Given the description of an element on the screen output the (x, y) to click on. 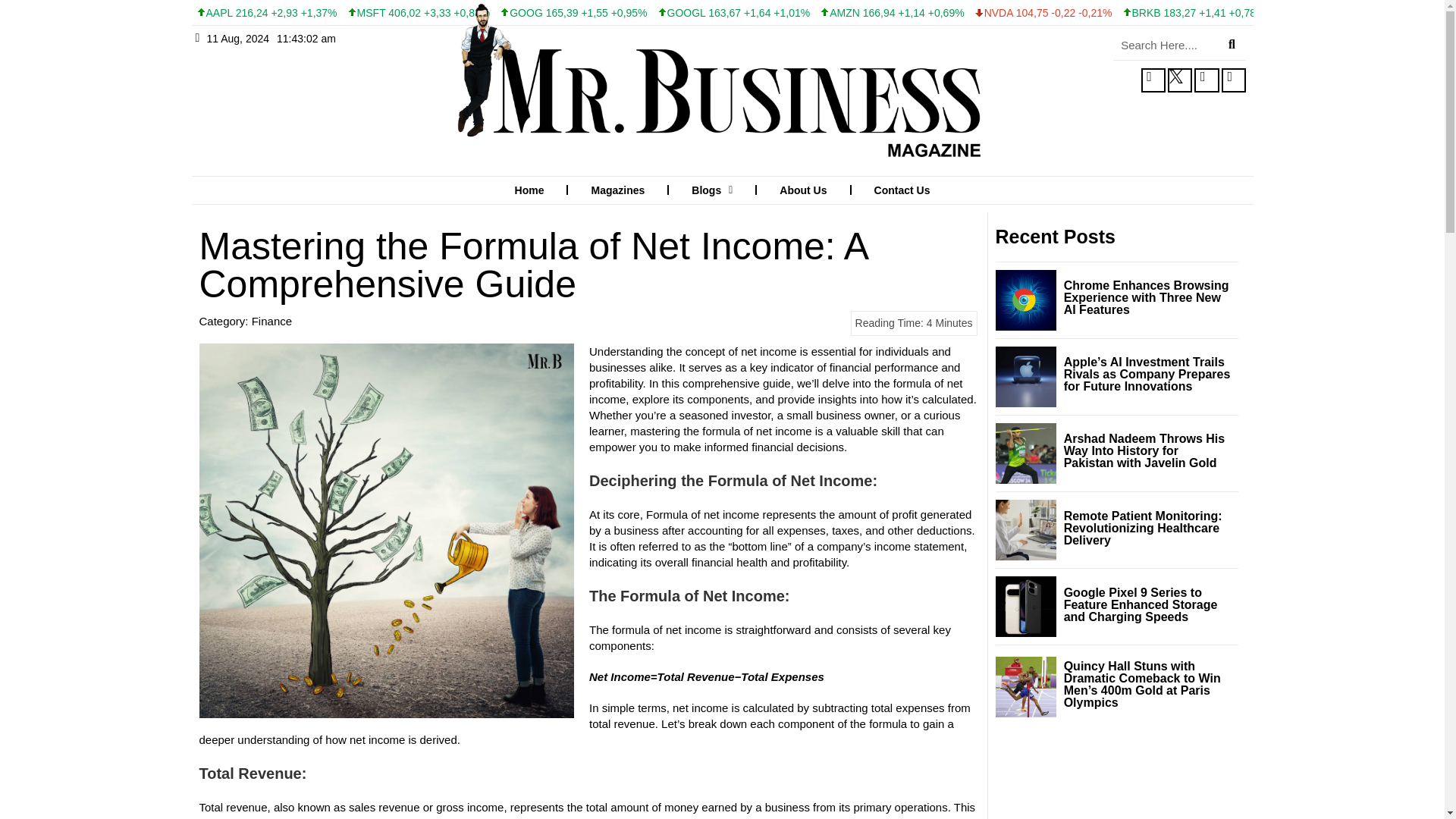
Contact Us (901, 189)
Blogs (712, 189)
Home (529, 189)
Finance (271, 320)
Magazines (617, 189)
About Us (802, 189)
